Given the description of an element on the screen output the (x, y) to click on. 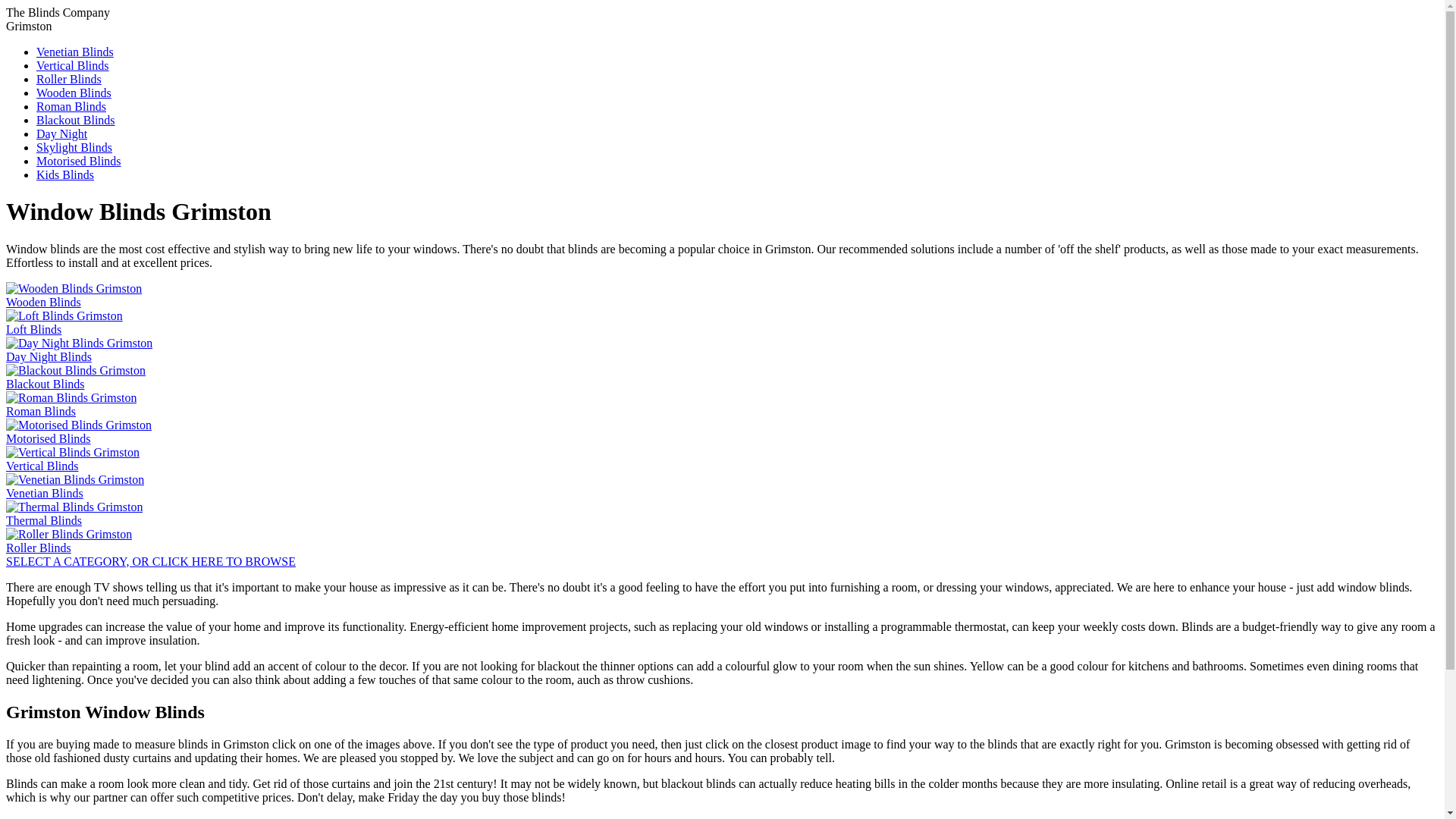
Wooden Blinds Grimston (74, 92)
Skylight Blinds Grimston (74, 146)
Roller Blinds (68, 540)
SELECT A CATEGORY, OR CLICK HERE TO BROWSE (150, 561)
Blackout Blinds (75, 119)
Motorised Blinds Grimston (78, 160)
Venetian Blinds (74, 486)
Kids Blinds Grimston (65, 174)
Blackout Blinds (75, 376)
Day Night (61, 133)
Wooden Blinds (73, 294)
Blackout Blinds Grimston (75, 119)
Vertical Blinds Grimston (72, 65)
Thermal Blinds (73, 513)
Roller Blinds (68, 78)
